Given the description of an element on the screen output the (x, y) to click on. 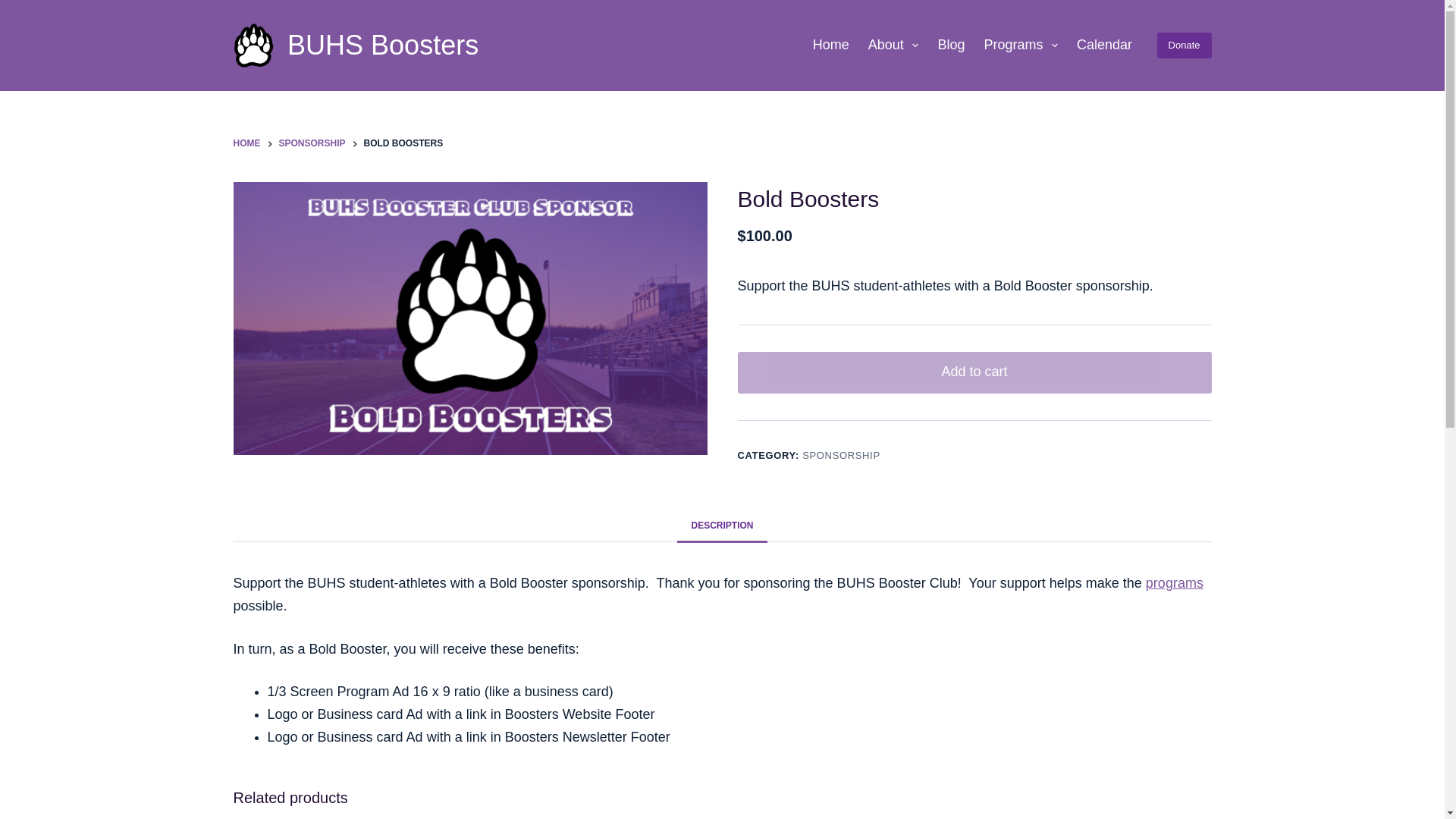
Blog (951, 45)
SPONSORSHIP (312, 143)
Donate (1184, 45)
Bold Boosters (469, 318)
Calendar (1104, 45)
Skip to content (15, 7)
About (893, 45)
Home (831, 45)
Programs (1020, 45)
BUHS Boosters (382, 44)
HOME (246, 143)
